Given the description of an element on the screen output the (x, y) to click on. 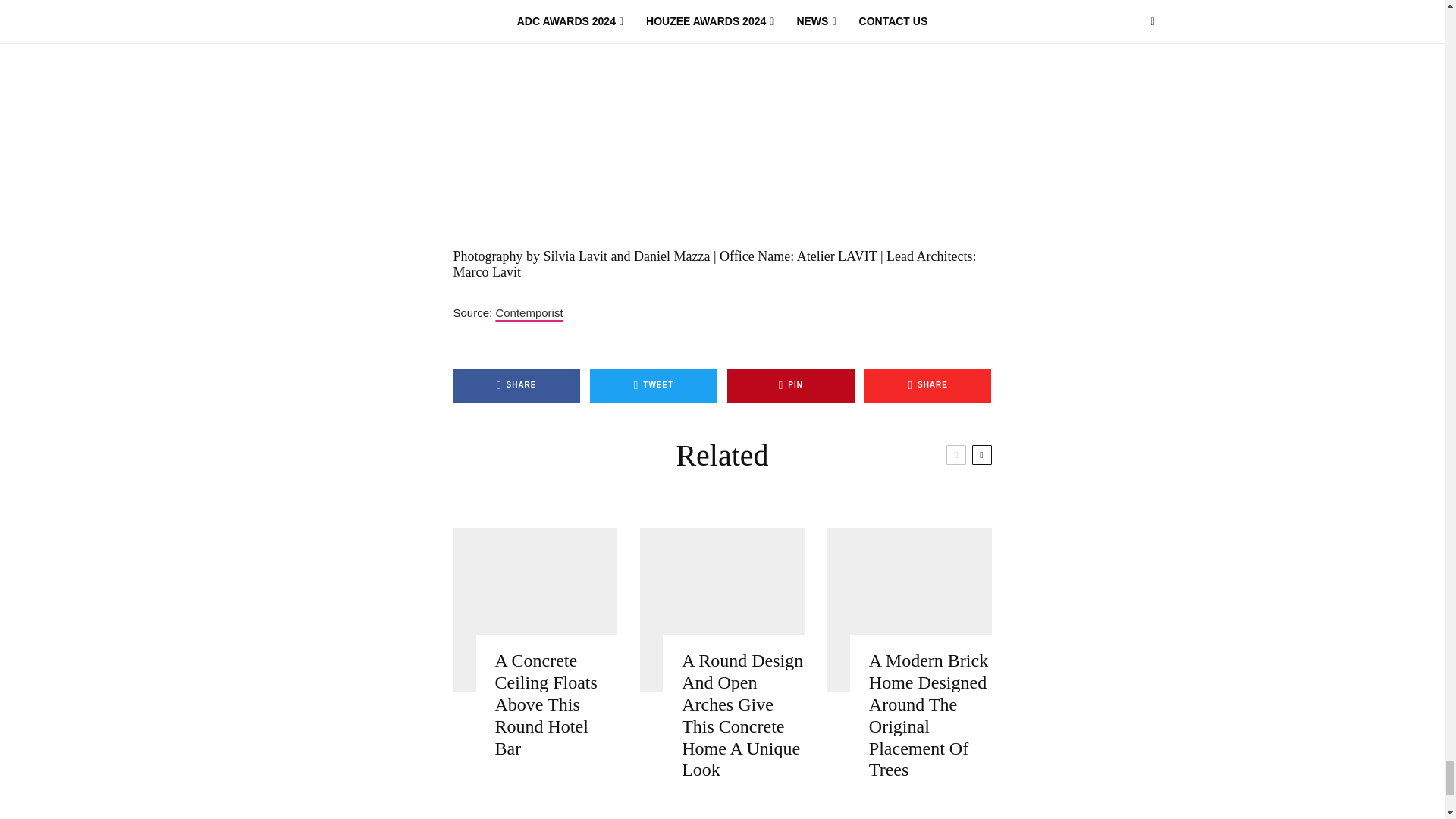
SHARE (516, 385)
Contemporist (528, 312)
